Given the description of an element on the screen output the (x, y) to click on. 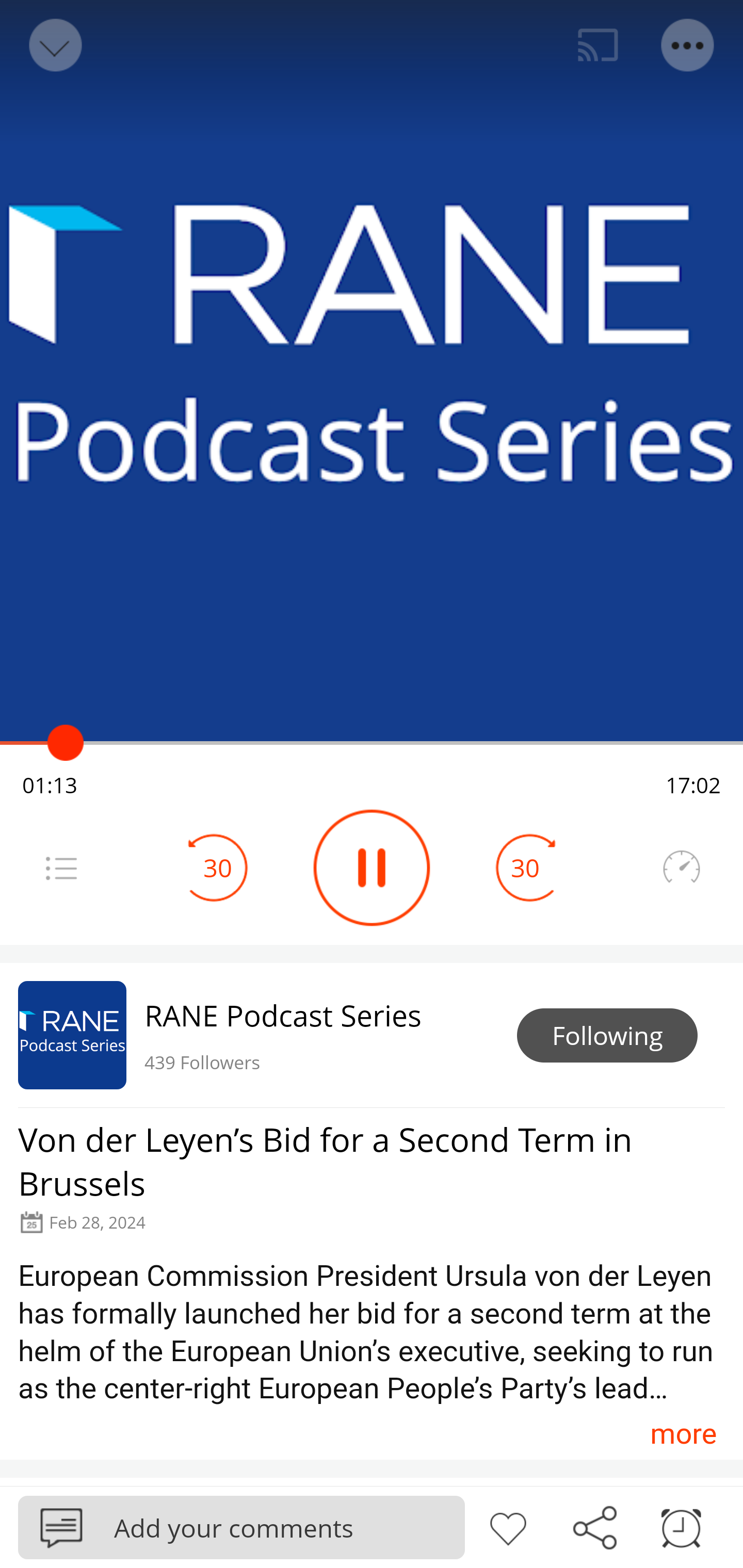
Back (53, 45)
Cast. Disconnected (597, 45)
Menu (688, 45)
Play (371, 867)
30 Seek Backward (217, 867)
30 Seek Forward (525, 867)
Menu (60, 867)
Speedometer (681, 867)
RANE Podcast Series 439 Followers Following (371, 1034)
Following (607, 1035)
more (682, 1432)
Like (508, 1526)
Share (594, 1526)
Sleep timer (681, 1526)
Podbean Add your comments (241, 1526)
